Given the description of an element on the screen output the (x, y) to click on. 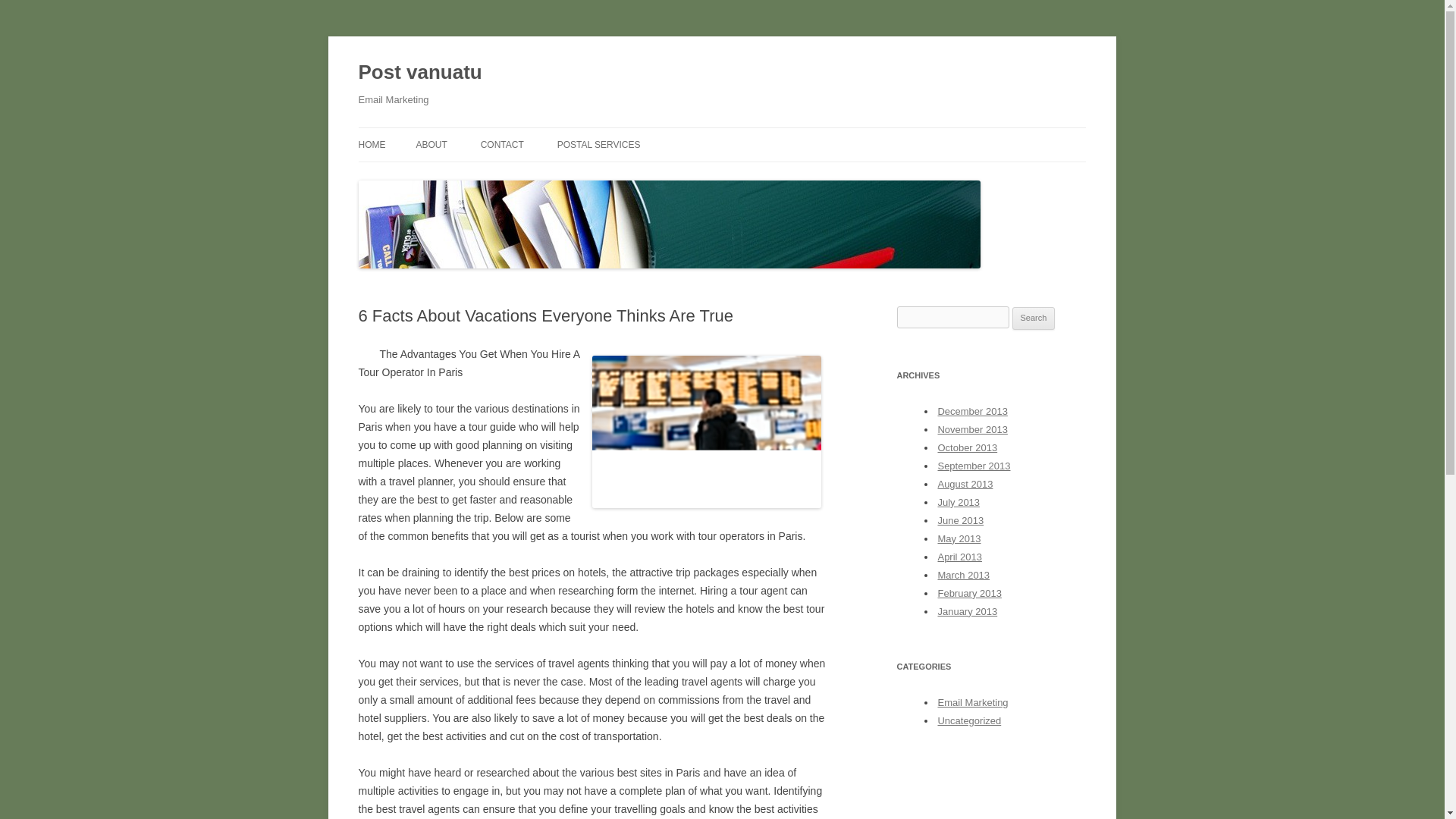
Uncategorized (969, 720)
January 2013 (967, 611)
August 2013 (964, 483)
February 2013 (969, 593)
July 2013 (958, 501)
July 2013 (958, 501)
Search (1033, 318)
April 2013 (959, 556)
November 2013 (972, 429)
September 2013 (973, 465)
August 2013 (964, 483)
June 2013 (960, 520)
January 2013 (967, 611)
December 2013 (972, 410)
